Given the description of an element on the screen output the (x, y) to click on. 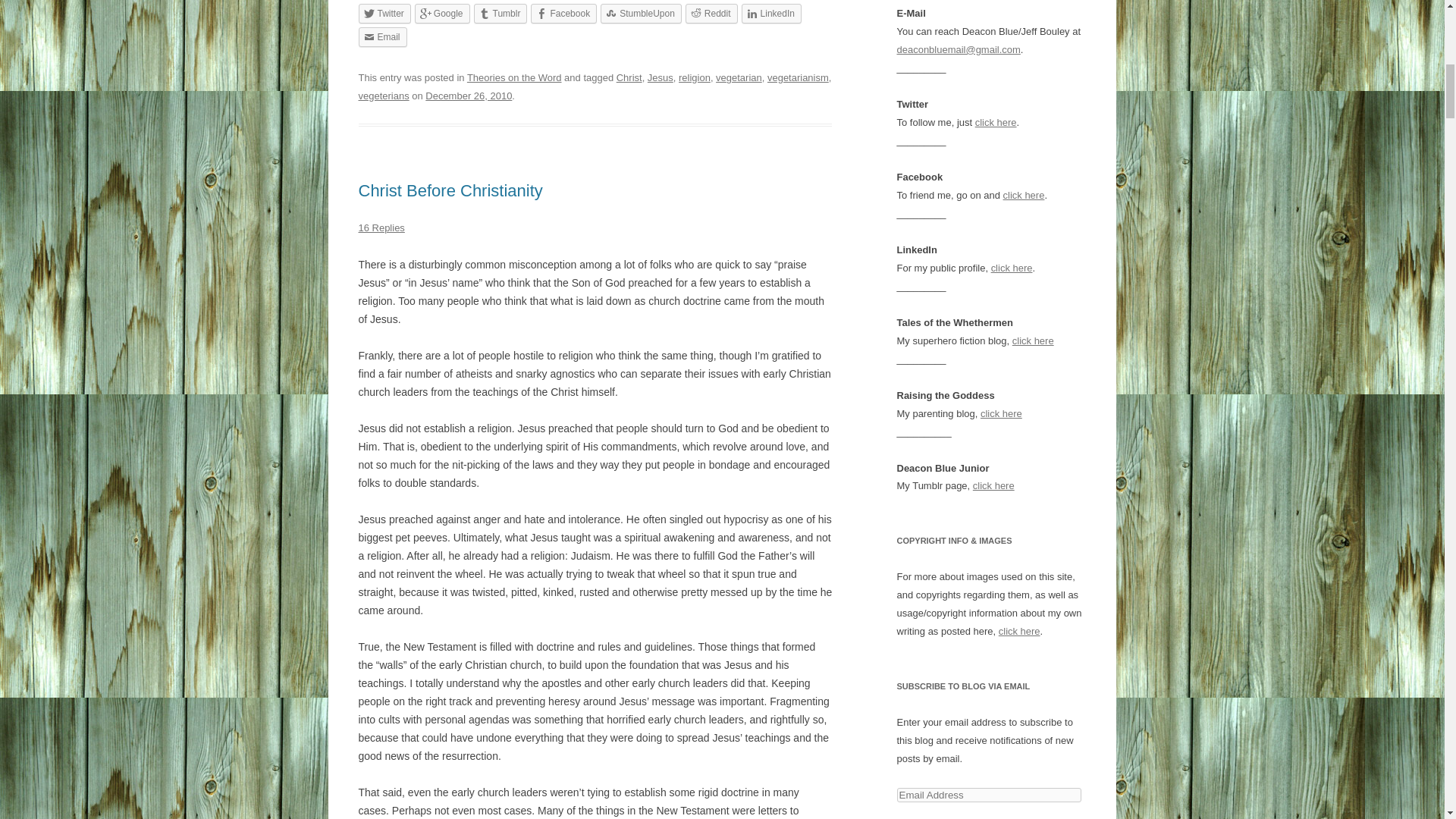
Click to share on LinkedIn (771, 13)
LinkedIn (771, 13)
Facebook (563, 13)
StumbleUpon (640, 13)
Twitter (384, 13)
Reddit (711, 13)
11:14 pm (468, 95)
Theories on the Word (514, 77)
Email (382, 36)
Christ (628, 77)
